Given the description of an element on the screen output the (x, y) to click on. 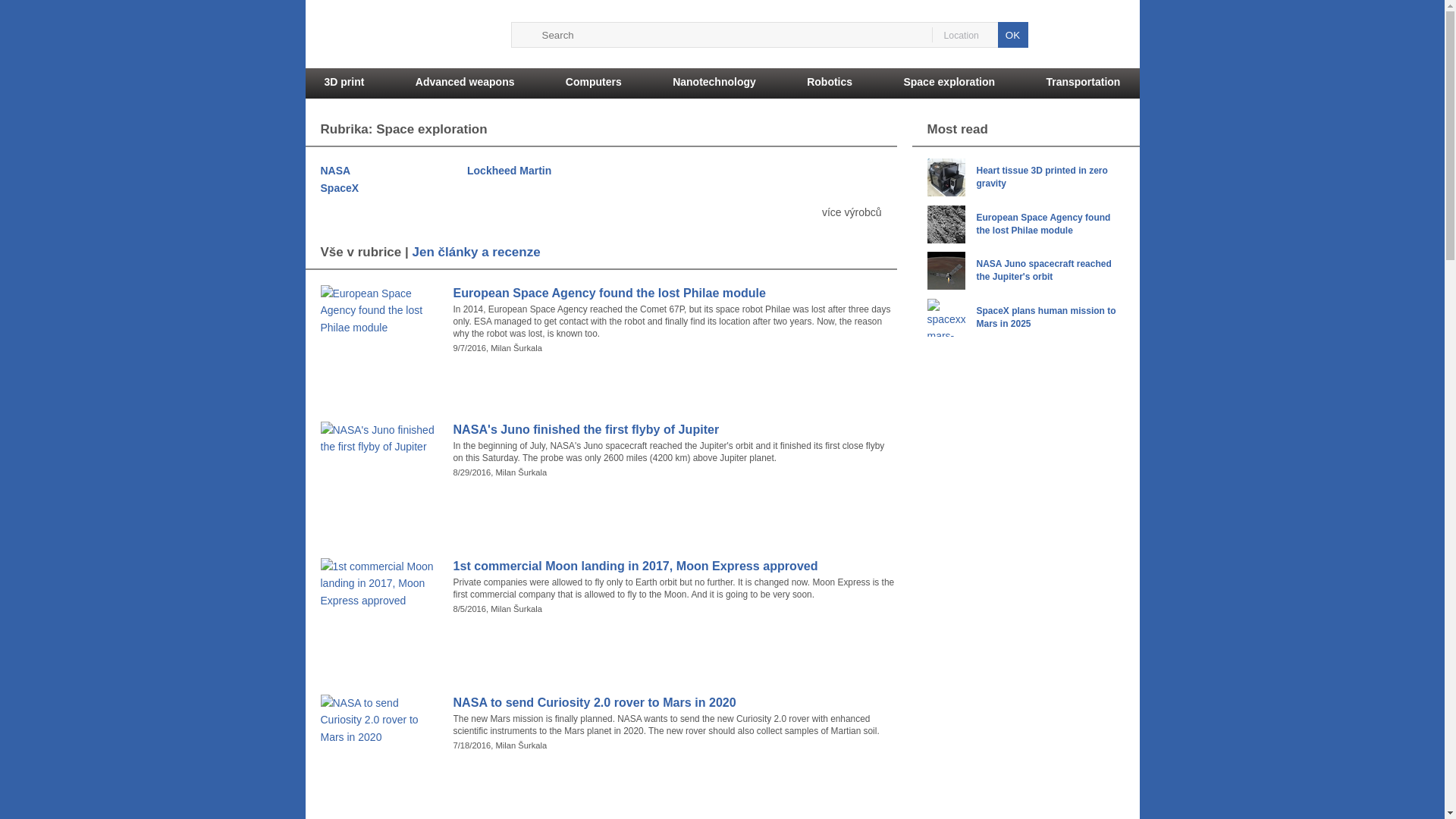
1st commercial Moon landing in 2017, Moon Express approved (674, 565)
Space exploration (948, 83)
European Space Agency found the lost Philae module (1025, 239)
European Space Agency found the lost Philae module  (674, 293)
Advanced weapons (464, 83)
3D print (344, 83)
NASA to send Curiosity 2.0 rover to Mars in 2020 (674, 702)
European Space Agency found the lost Philae module (674, 293)
1st commercial Moon landing in 2017, Moon Express approved (674, 565)
NASA's Juno finished the first flyby of Jupiter (674, 429)
